Given the description of an element on the screen output the (x, y) to click on. 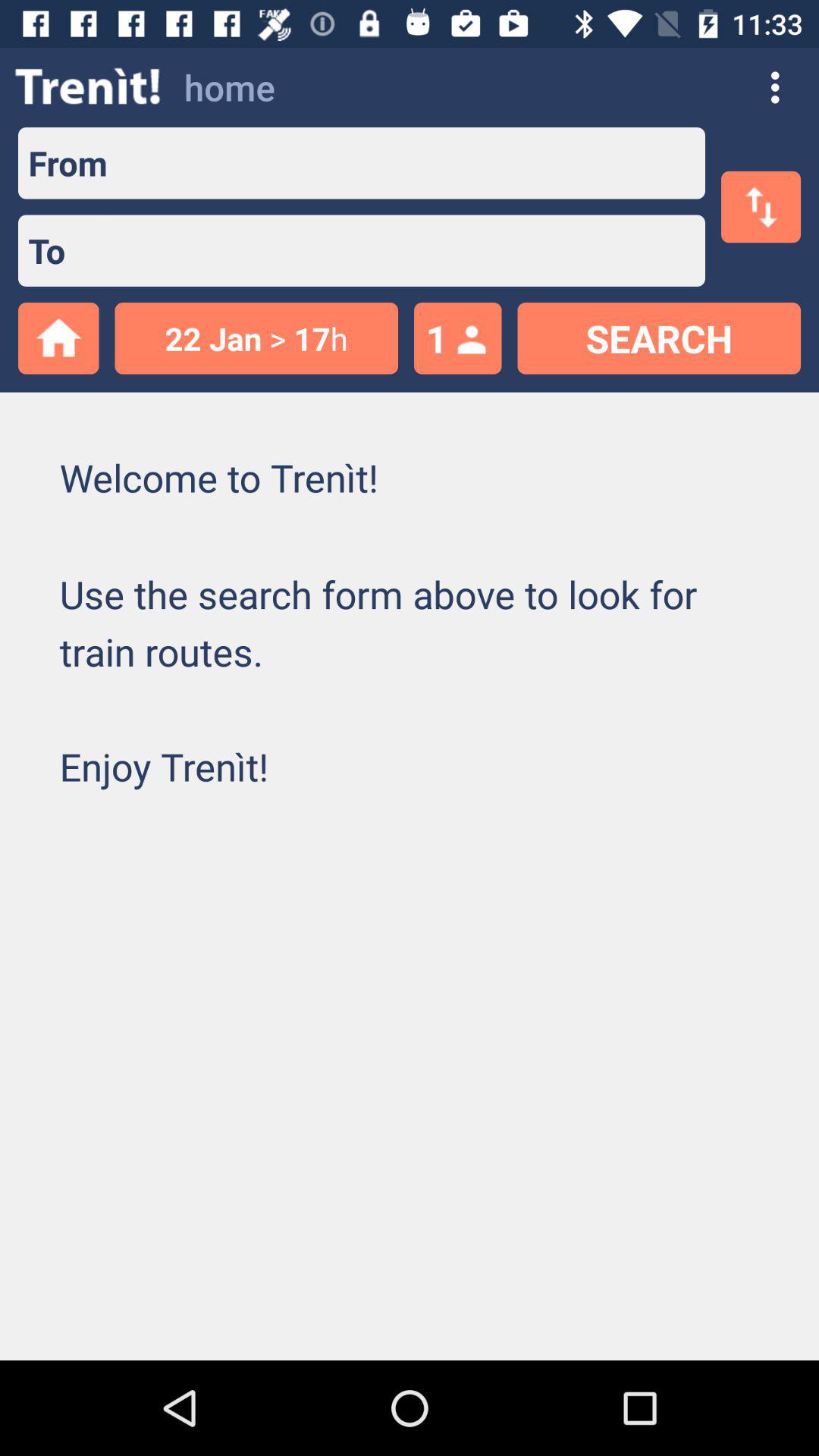
open 22 jan > 17h (256, 338)
